Given the description of an element on the screen output the (x, y) to click on. 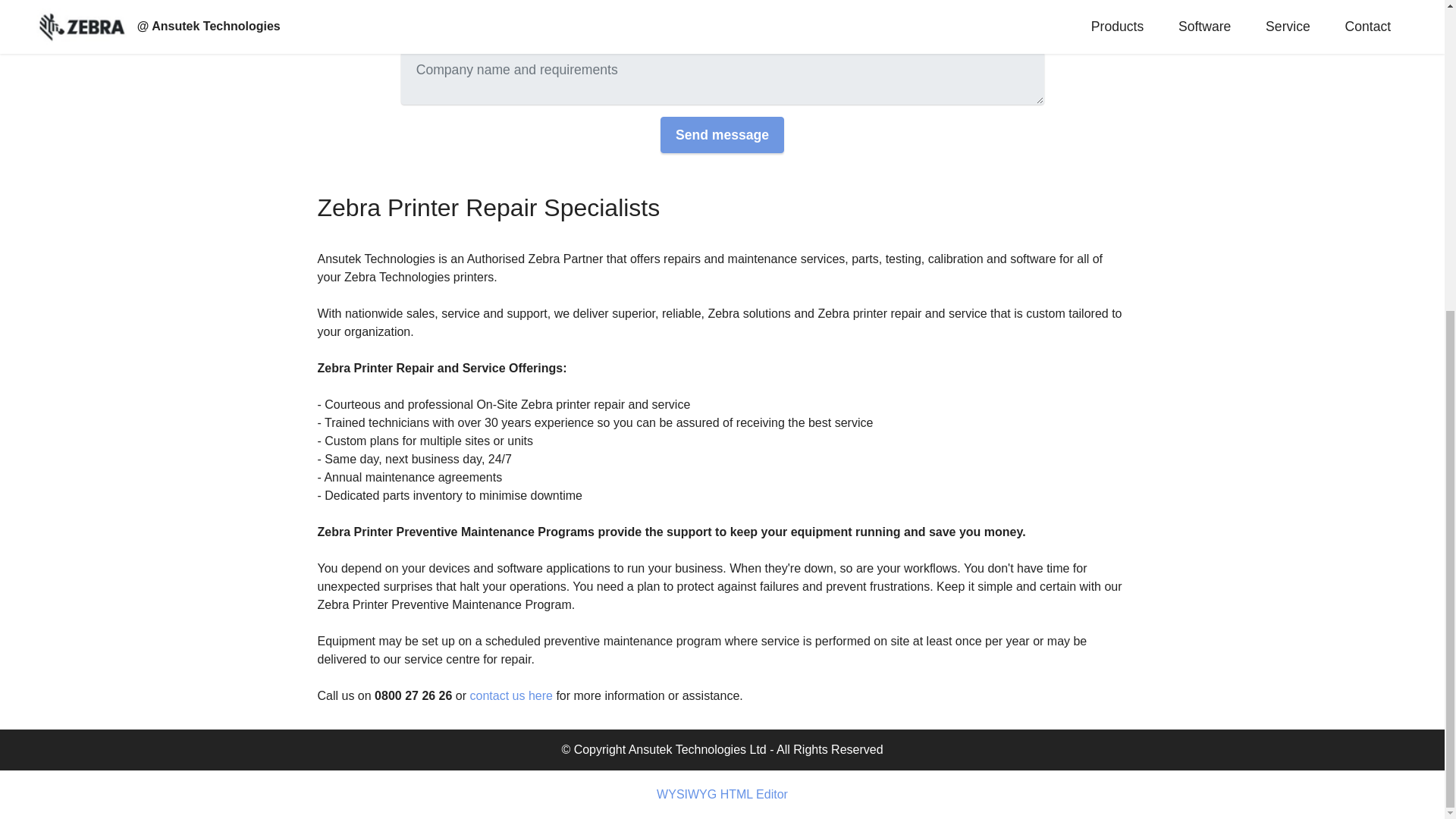
WYSIWYG HTML Editor (721, 794)
Send message (722, 135)
contact us here (511, 695)
